Given the description of an element on the screen output the (x, y) to click on. 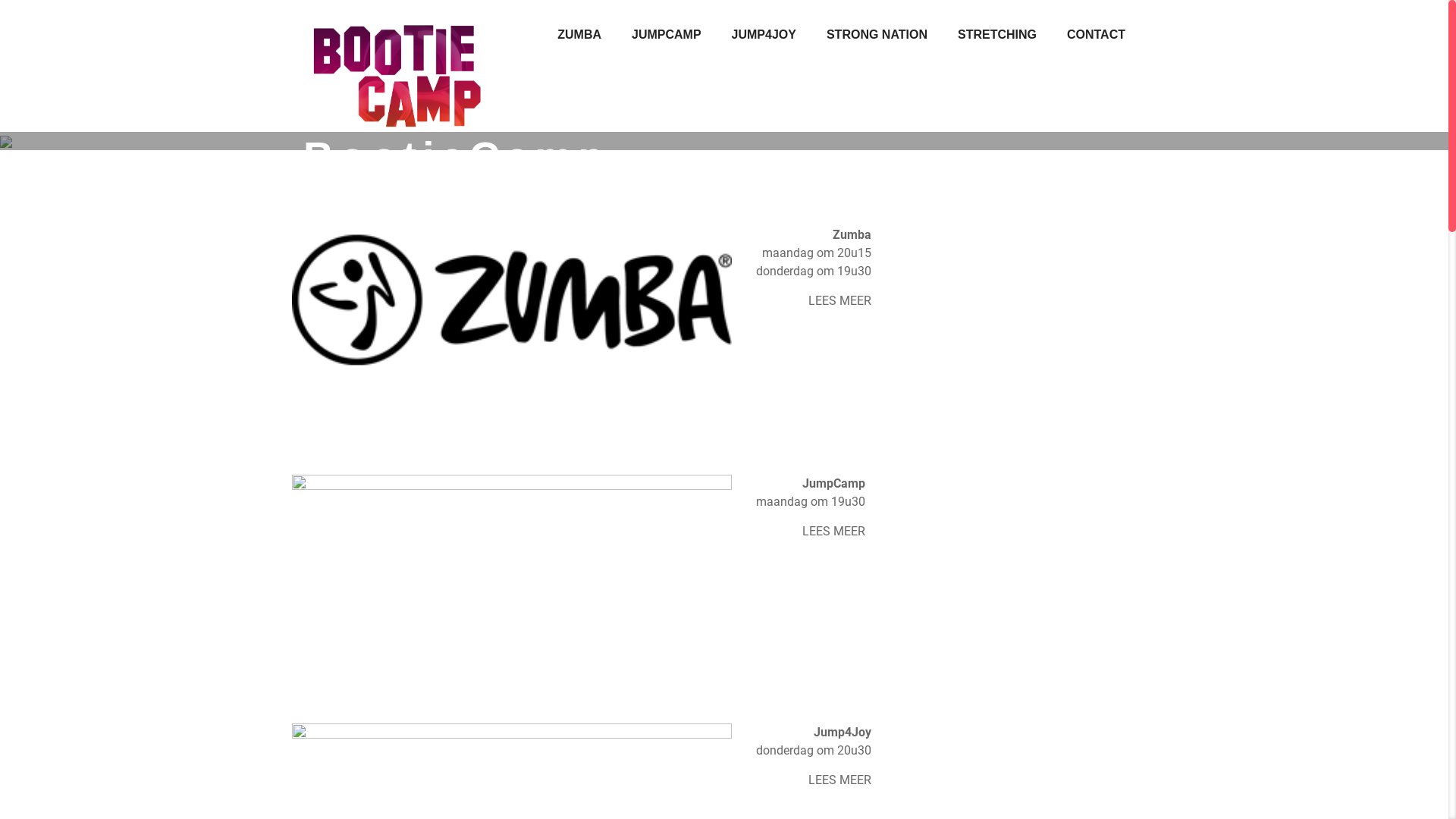
JUMPCAMP Element type: text (666, 34)
ZUMBA Element type: text (578, 34)
LEES MEER Element type: text (839, 300)
STRETCHING Element type: text (997, 34)
STRONG NATION Element type: text (876, 34)
LEES MEER Element type: text (839, 779)
JUMP4JOY Element type: text (763, 34)
LEES MEER Element type: text (833, 531)
CONTACT Element type: text (1095, 34)
